Given the description of an element on the screen output the (x, y) to click on. 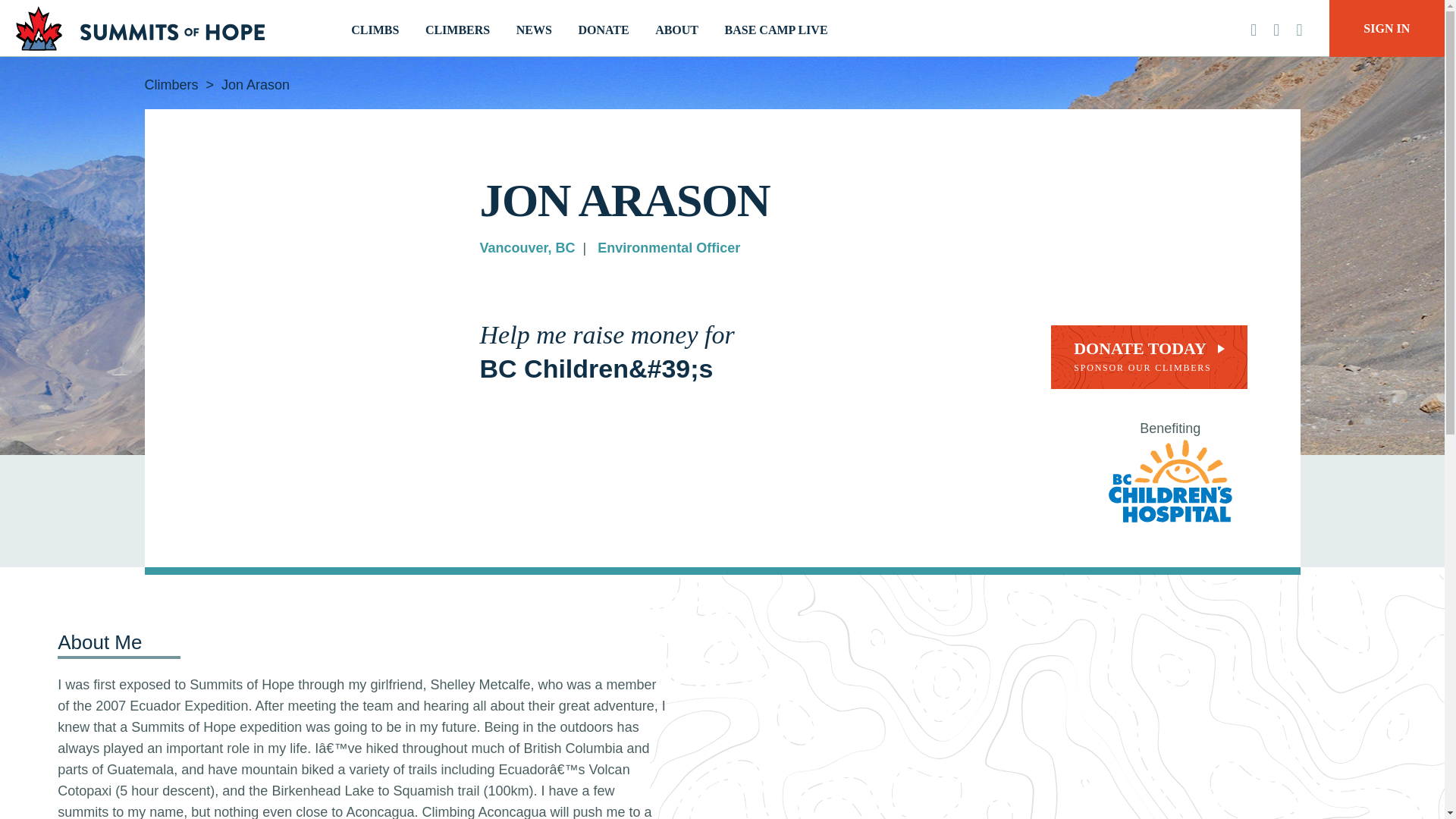
Climbers (171, 84)
DONATE (603, 29)
BASE CAMP LIVE (776, 29)
CLIMBERS (457, 29)
NEWS (533, 29)
ABOUT (676, 29)
CLIMBS (1148, 357)
